Given the description of an element on the screen output the (x, y) to click on. 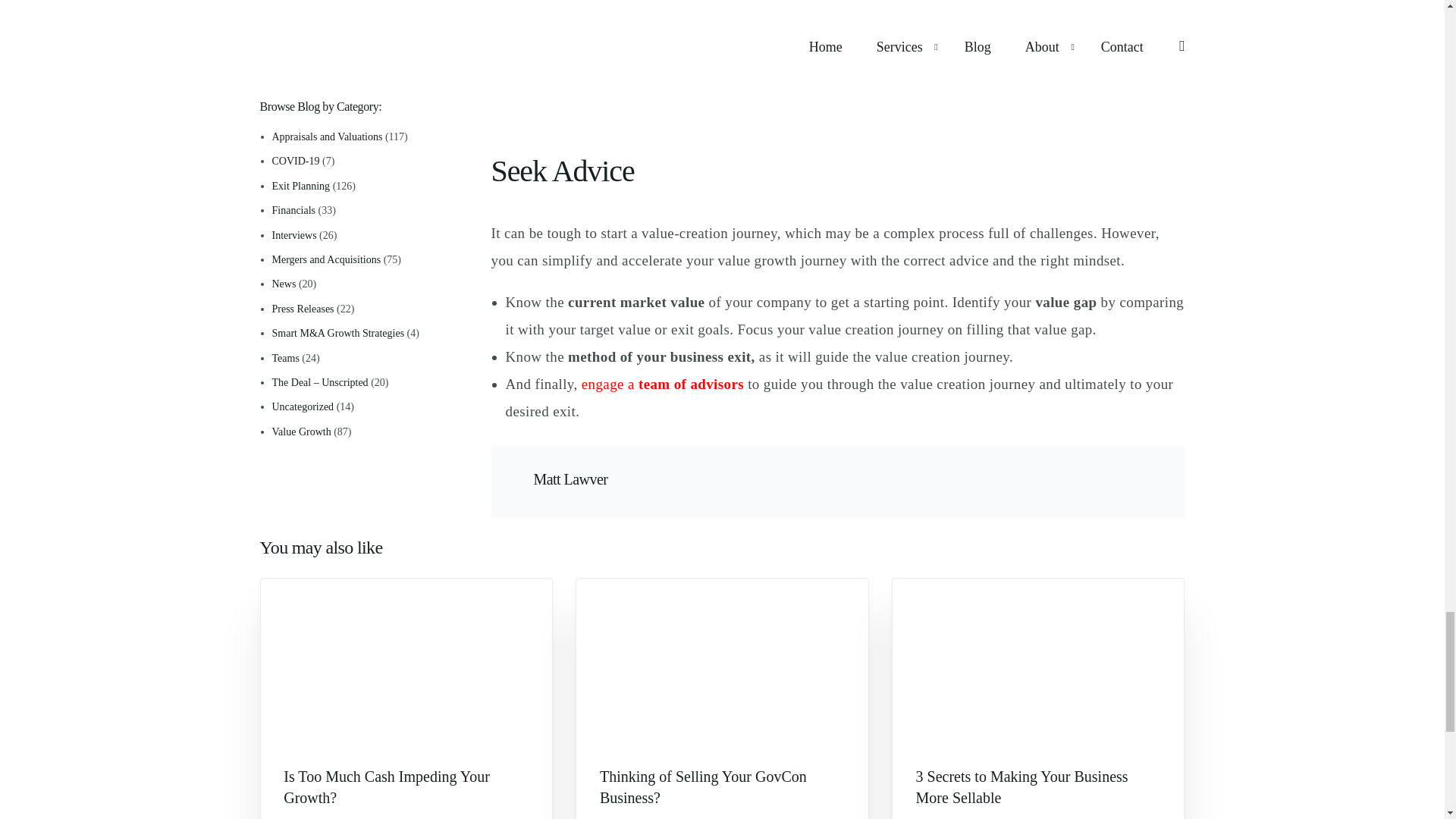
Posts by Matt Lawver (571, 478)
engage a team of advisors (662, 383)
View Post: Thinking of Selling Your GovCon Business?  (721, 786)
Matt Lawver (571, 478)
Is Too Much Cash Impeding Your Growth? (405, 786)
View Post: 3 Secrets to Making Your Business More Sellable  (1037, 786)
 View Post: Thinking of Selling Your GovCon Business? (721, 661)
 View Post: 3 Secrets to Making Your Business More Sellable (1038, 661)
View Post: Is Too Much Cash Impeding Your Growth?  (405, 786)
 View Post: Is Too Much Cash Impeding Your Growth? (406, 661)
